Given the description of an element on the screen output the (x, y) to click on. 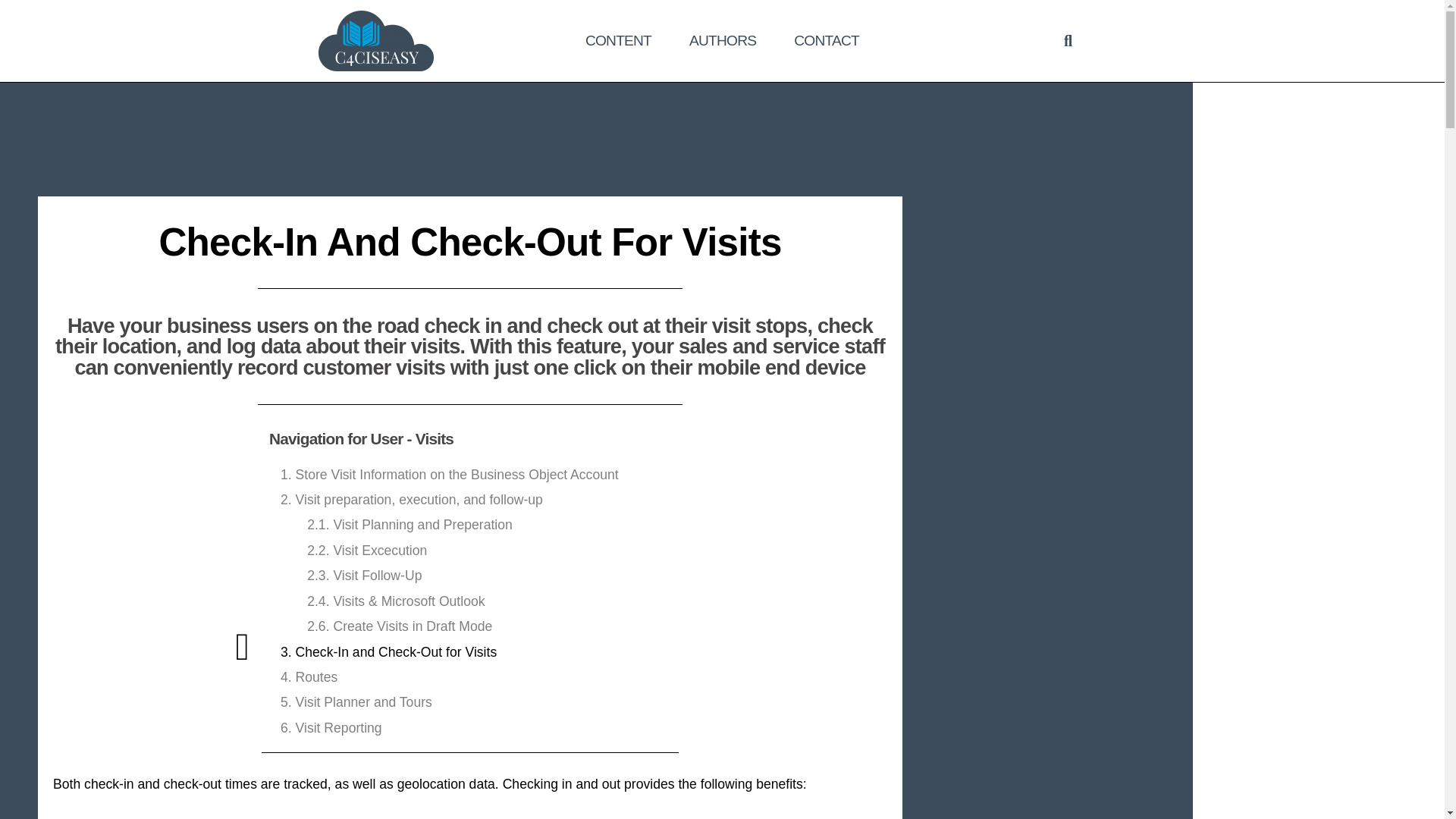
3. Check-In and Check-Out for Visits (388, 652)
2.1. Visit Planning and Preperation (409, 524)
5. Visit Planner and Tours (356, 702)
2.3. Visit Follow-Up (364, 575)
2.2. Visit Excecution (366, 550)
2. Visit preparation, execution, and follow-up (412, 499)
2.6. Create Visits in Draft Mode (399, 626)
AUTHORS (721, 40)
1. Store Visit Information on the Business Object Account (449, 474)
CONTACT (826, 40)
4. Routes (309, 677)
CONTENT (617, 40)
6. Visit Reporting (331, 728)
